Given the description of an element on the screen output the (x, y) to click on. 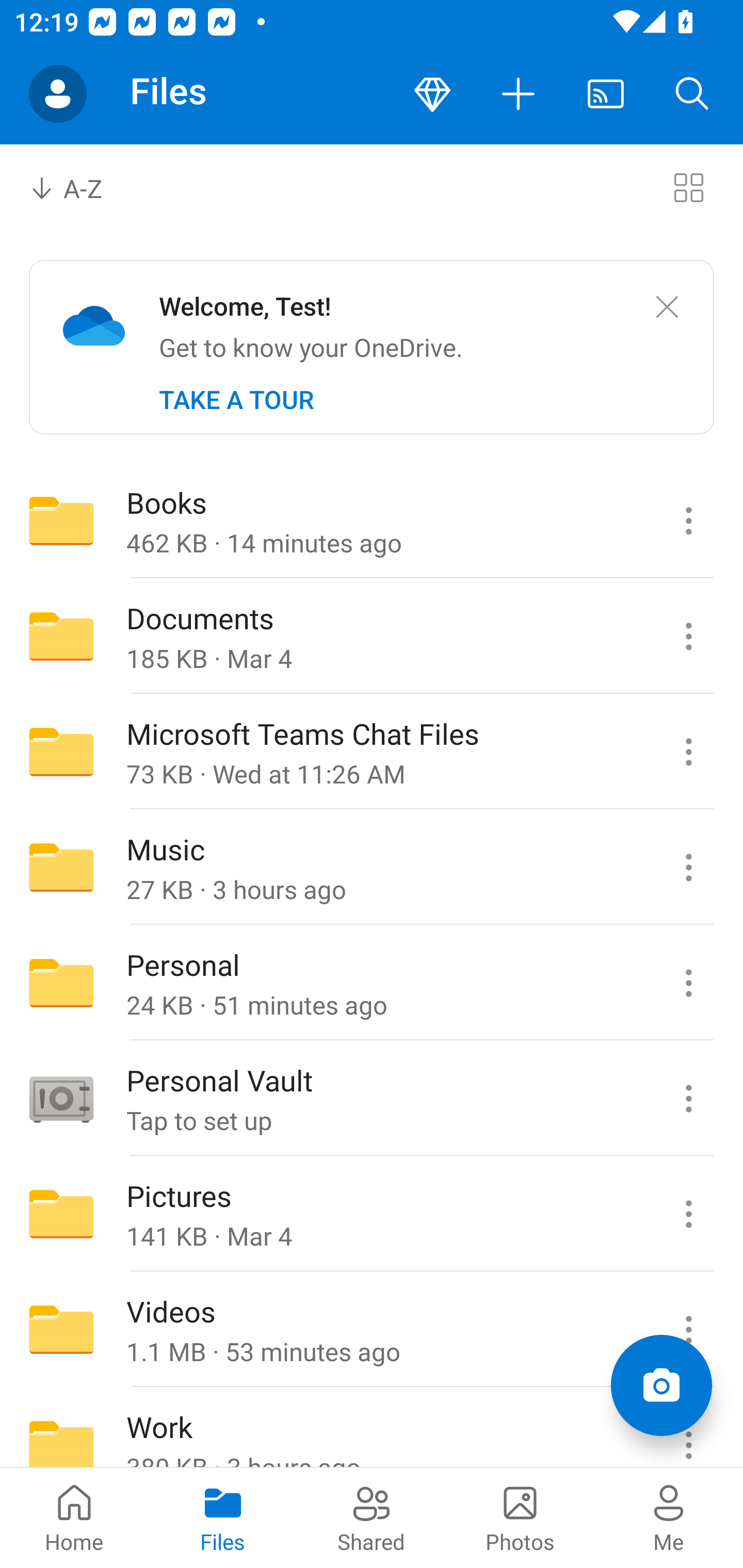
Account switcher (57, 93)
Cast. Disconnected (605, 93)
Premium button (432, 93)
More actions button (518, 93)
Search button (692, 93)
A-Z Sort by combo box, sort by name, A to Z (80, 187)
Switch to tiles view (688, 187)
Close (667, 307)
TAKE A TOUR (236, 399)
Books commands (688, 520)
Folder Documents 185 KB · Mar 4 Documents commands (371, 636)
Documents commands (688, 636)
Microsoft Teams Chat Files commands (688, 751)
Folder Music 27 KB · 3 hours ago Music commands (371, 867)
Music commands (688, 867)
Personal commands (688, 983)
Personal Vault commands (688, 1099)
Folder Pictures 141 KB · Mar 4 Pictures commands (371, 1214)
Pictures commands (688, 1214)
Videos commands (688, 1329)
Add items Scan (660, 1385)
Folder Work 380 KB · 3 hours ago Work commands (371, 1427)
Work commands (688, 1427)
Home pivot Home (74, 1517)
Shared pivot Shared (371, 1517)
Photos pivot Photos (519, 1517)
Me pivot Me (668, 1517)
